Given the description of an element on the screen output the (x, y) to click on. 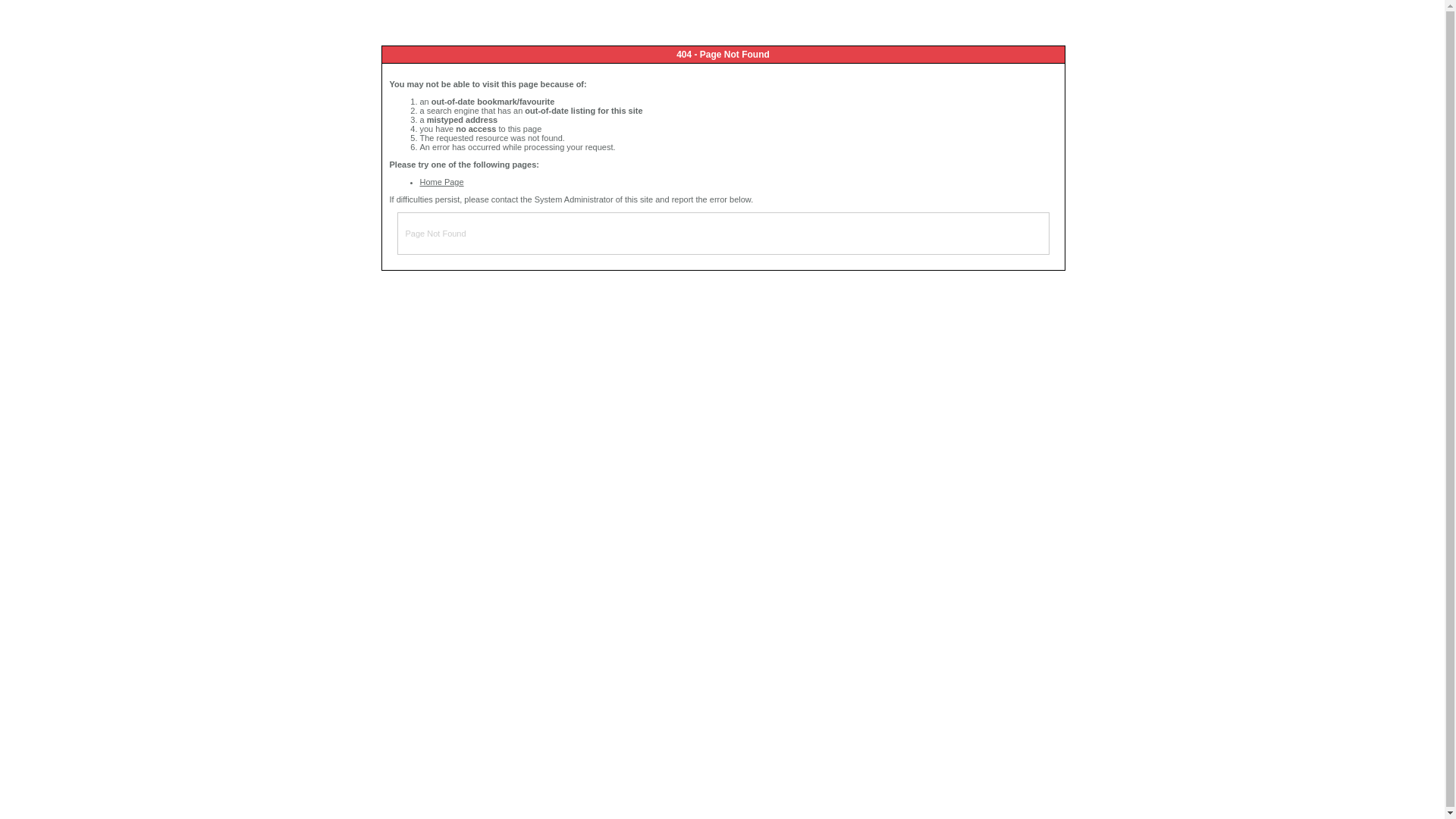
Home Page Element type: text (442, 181)
